Given the description of an element on the screen output the (x, y) to click on. 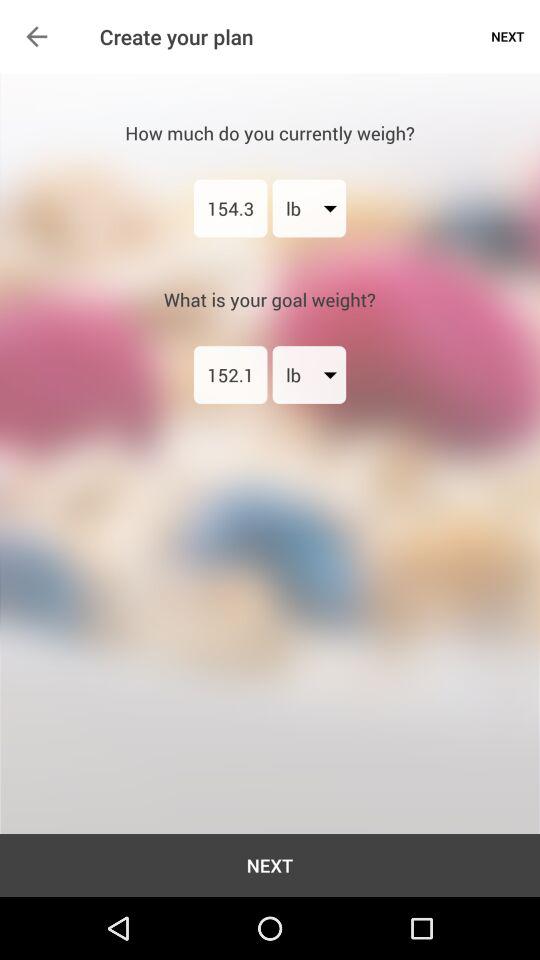
click the icon above next item (230, 374)
